Given the description of an element on the screen output the (x, y) to click on. 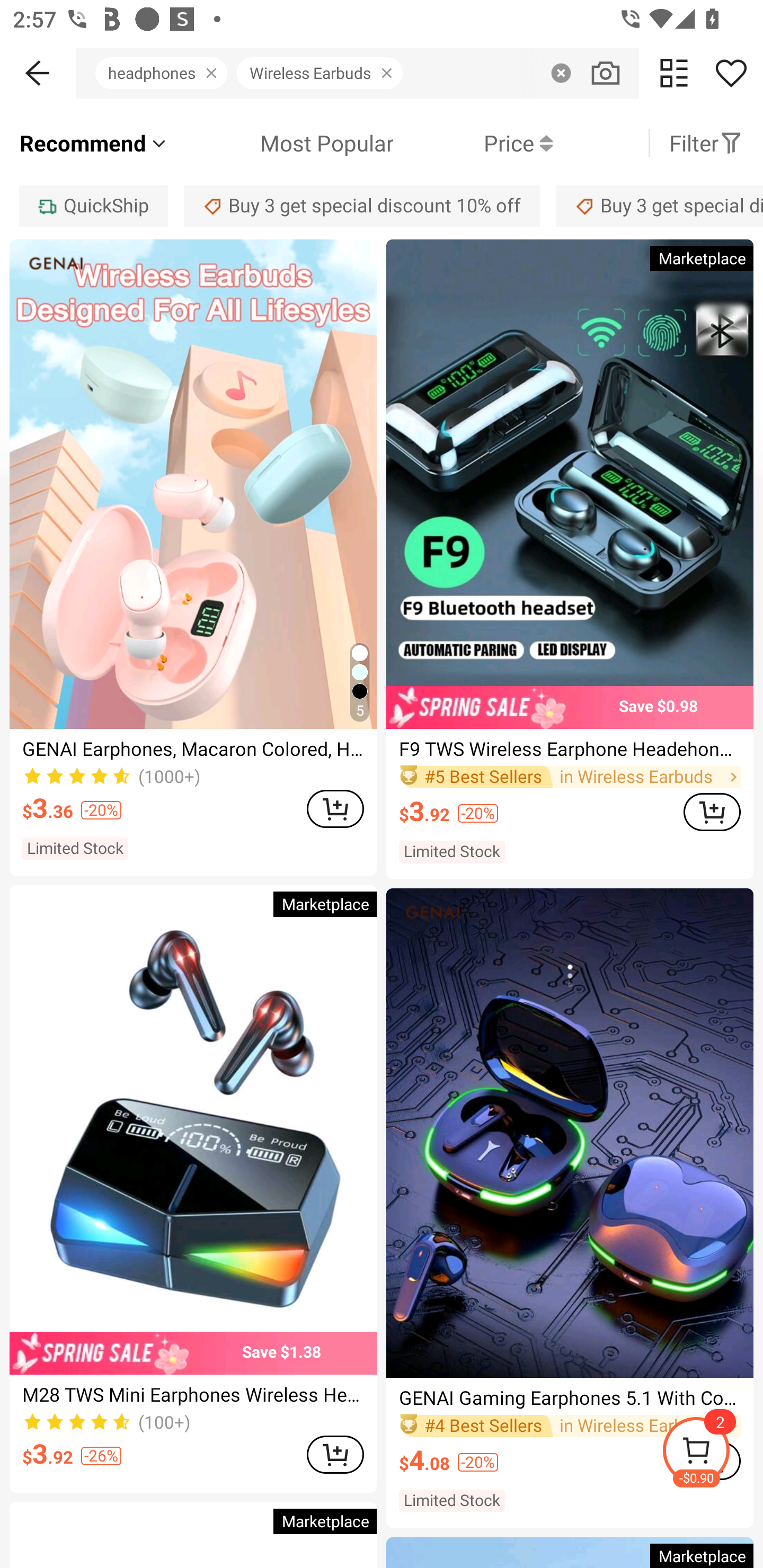
headphones (165, 72)
Wireless Earbuds (324, 72)
Clear (560, 72)
change view (673, 72)
Share (730, 72)
Recommend (94, 143)
Most Popular (280, 143)
Price (472, 143)
Filter (705, 143)
QuickShip (93, 206)
Buy 3 get special discount 10% off (361, 206)
Buy 3 get special discount 1% off (659, 206)
#5 Best Sellers in Wireless Earbuds (569, 777)
ADD TO CART (334, 808)
ADD TO CART (711, 812)
-$0.90 (712, 1452)
#4 Best Sellers in Wireless Earbuds (569, 1425)
ADD TO CART (334, 1454)
